Given the description of an element on the screen output the (x, y) to click on. 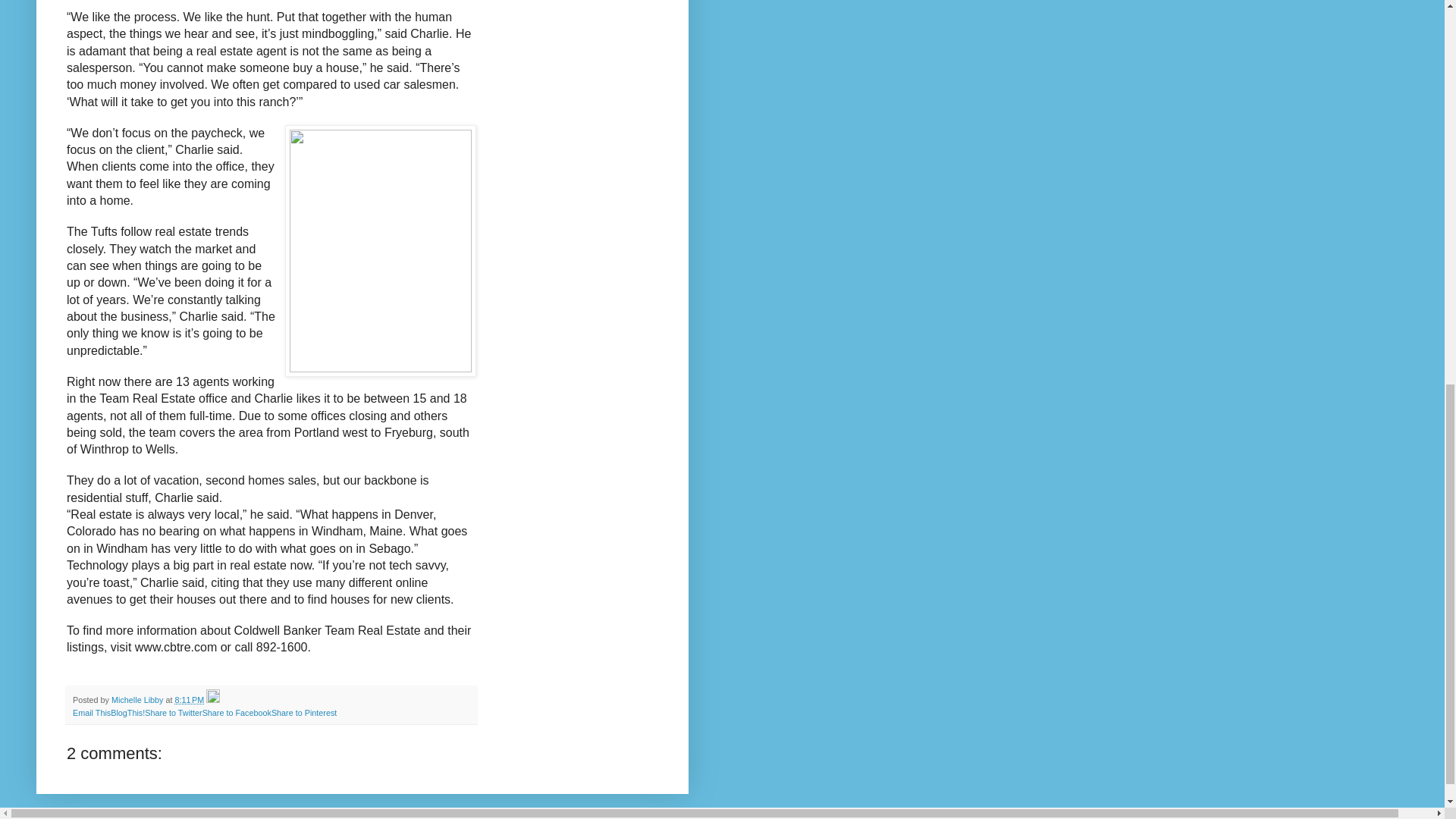
Michelle Libby (138, 699)
Share to Facebook (236, 712)
Share to Twitter (173, 712)
Email This (91, 712)
Edit Post (212, 699)
Share to Twitter (173, 712)
author profile (138, 699)
BlogThis! (127, 712)
Share to Pinterest (303, 712)
permanent link (188, 699)
